Given the description of an element on the screen output the (x, y) to click on. 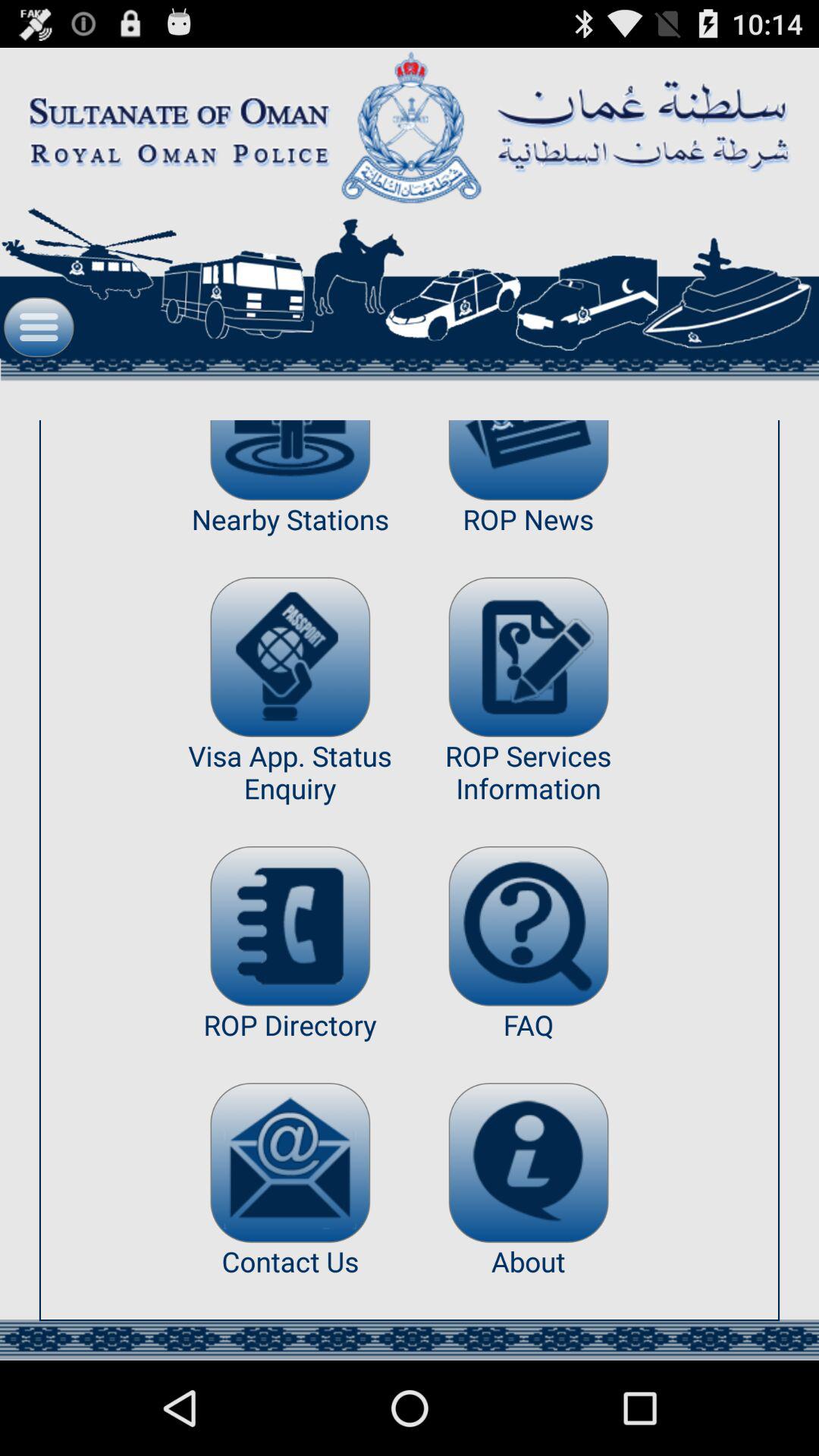
select the app below the rop news item (528, 657)
